Given the description of an element on the screen output the (x, y) to click on. 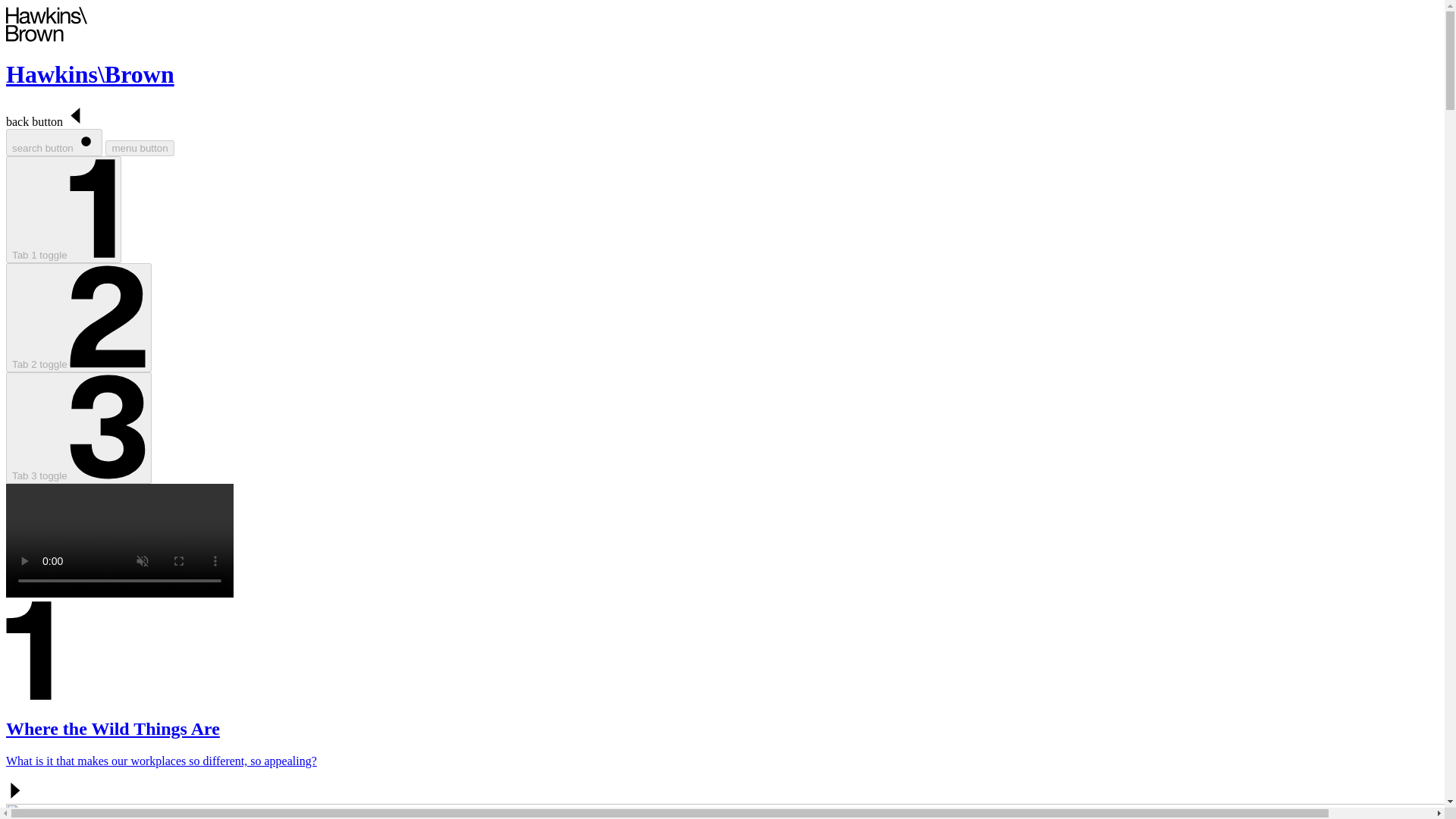
back button (45, 121)
search button (53, 142)
Tab 3 toggle (78, 428)
menu button (138, 148)
Tab 2 toggle (78, 317)
Tab 1 toggle (62, 209)
